Given the description of an element on the screen output the (x, y) to click on. 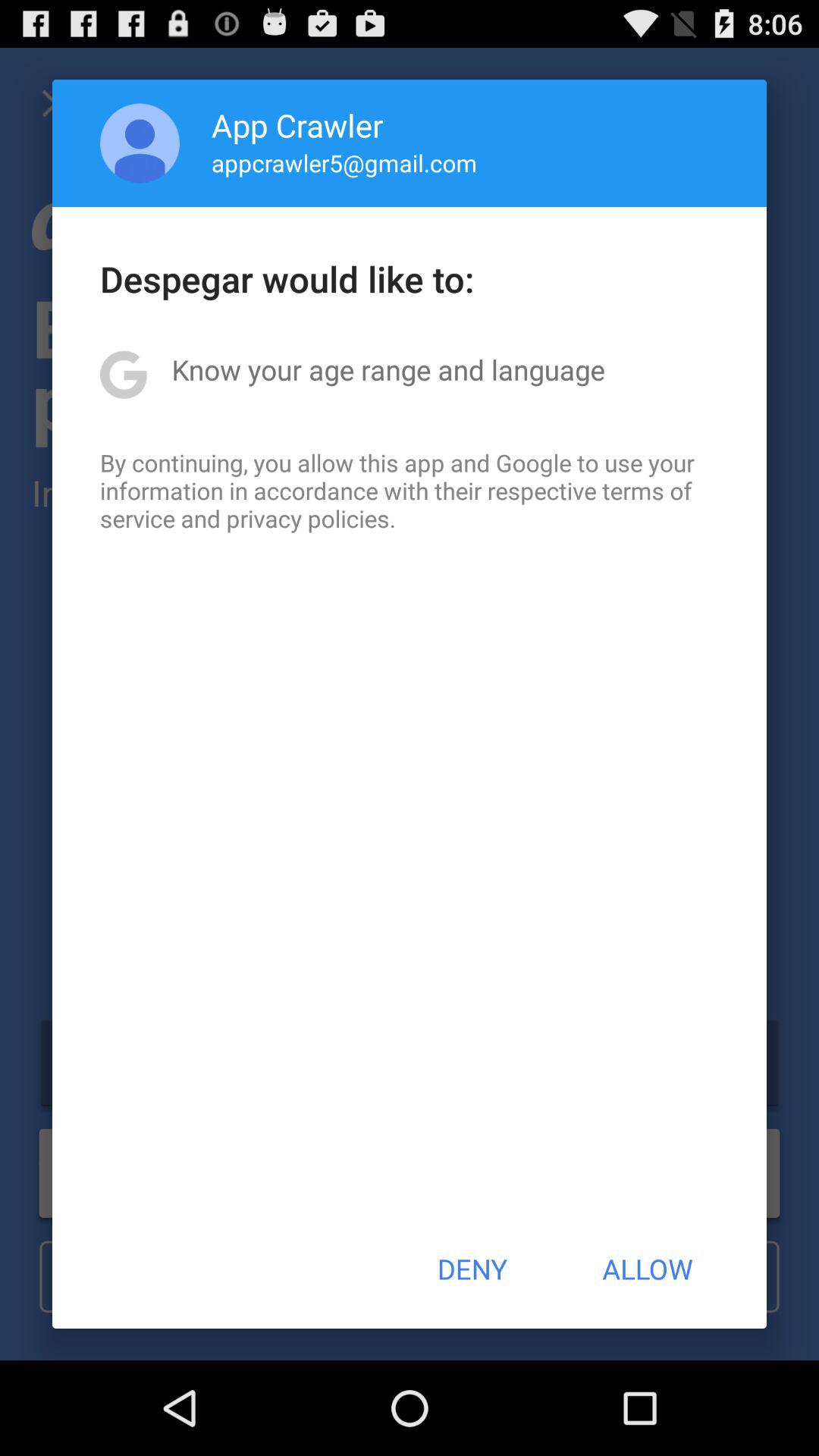
tap deny button (471, 1268)
